Given the description of an element on the screen output the (x, y) to click on. 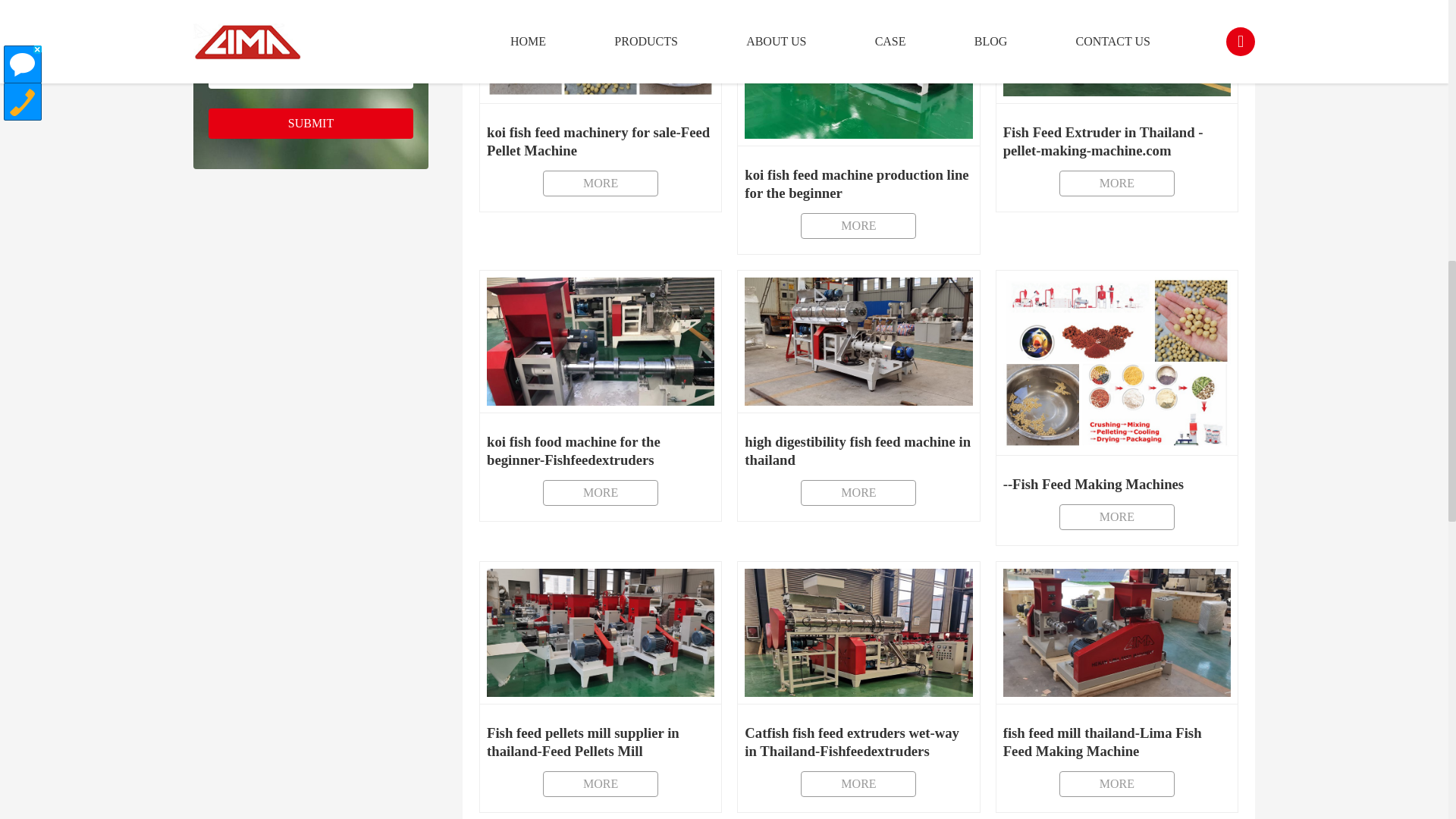
SUBMIT (600, 105)
